Given the description of an element on the screen output the (x, y) to click on. 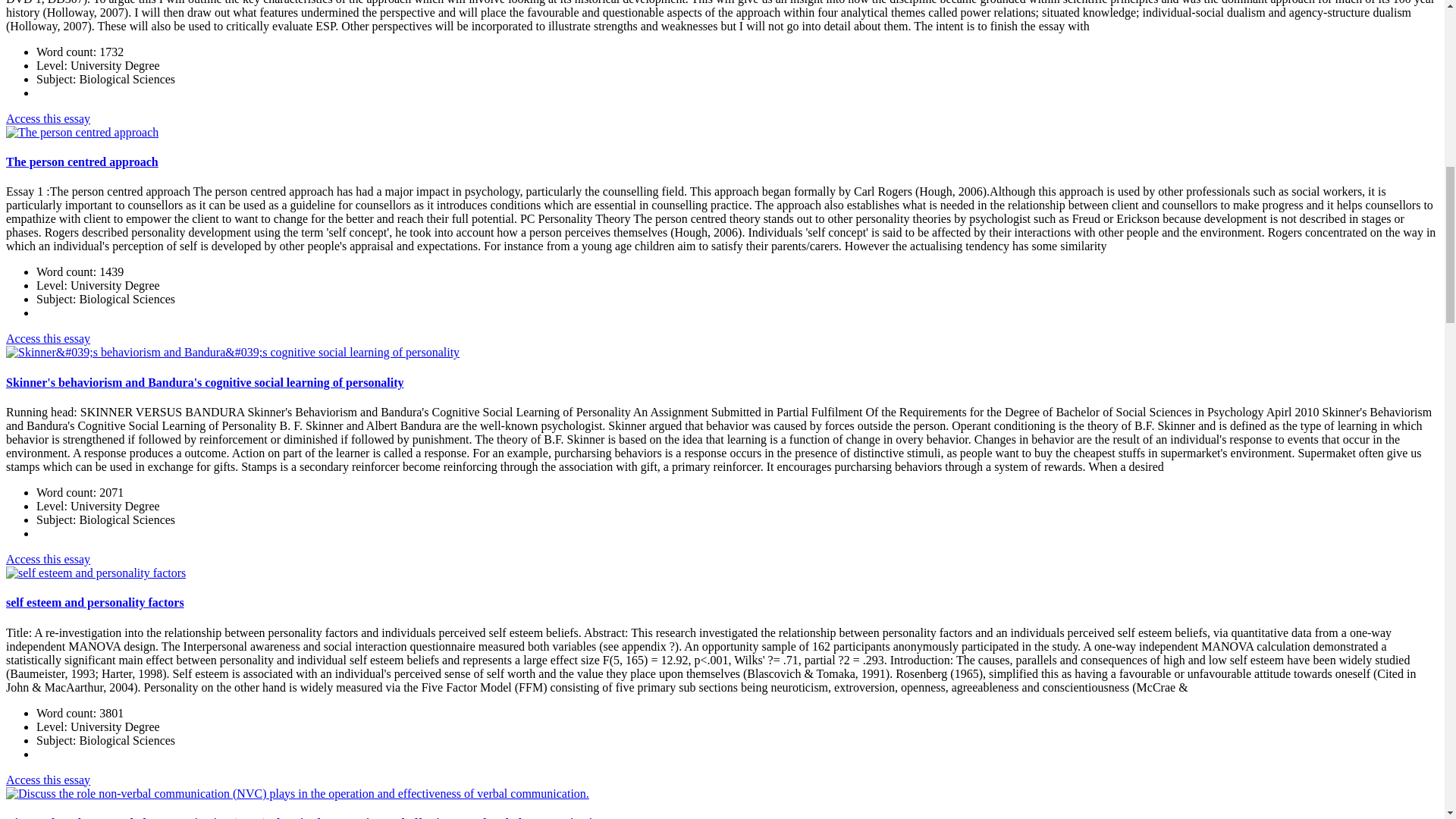
The person centred approach (81, 161)
Access this essay (47, 779)
Access this essay (47, 338)
Access this essay (47, 558)
self esteem and personality factors (94, 602)
Access this essay (47, 118)
